Given the description of an element on the screen output the (x, y) to click on. 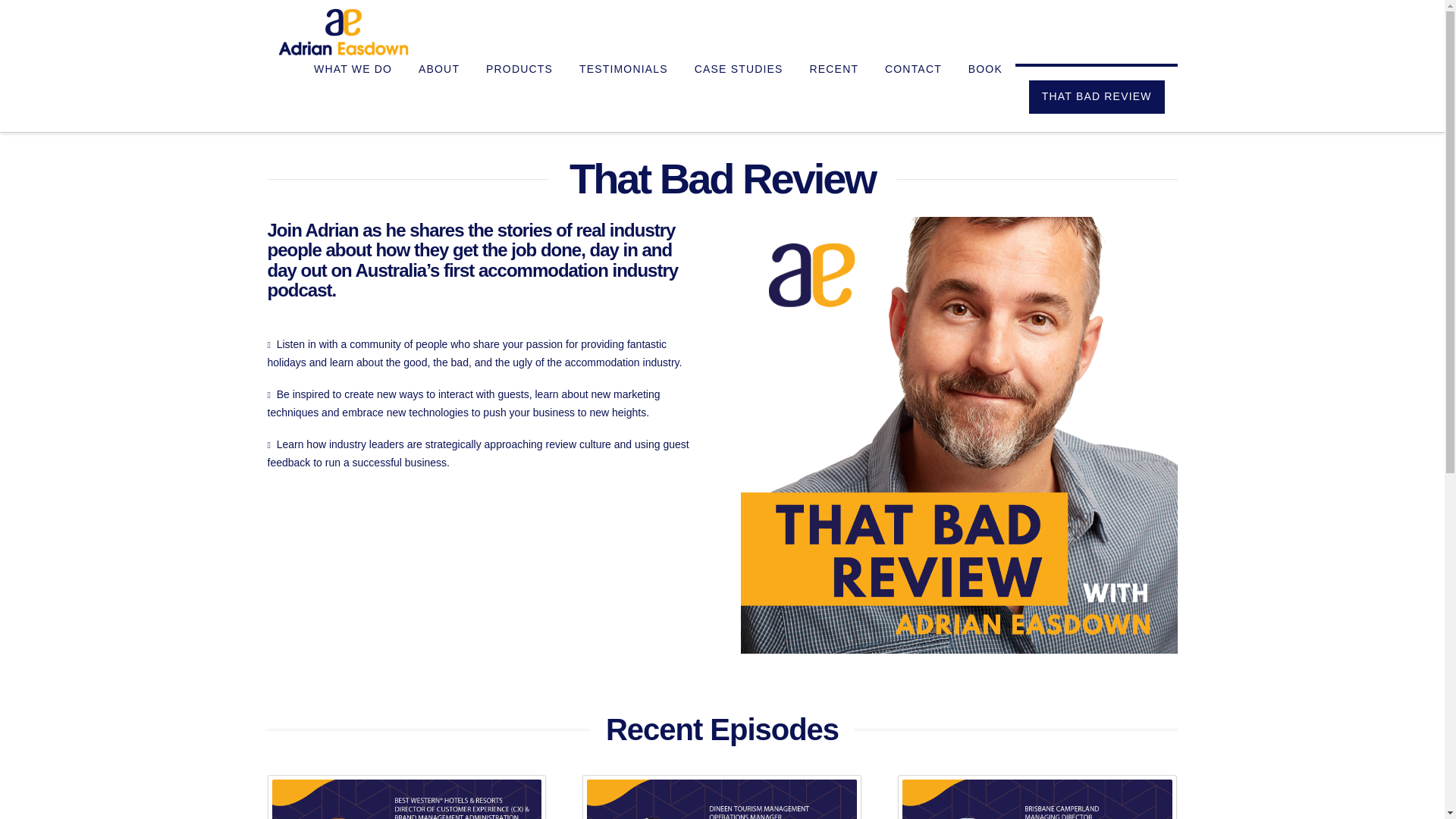
CONTACT (912, 97)
ABOUT (437, 97)
THAT BAD REVIEW (1096, 96)
WHAT WE DO (351, 97)
PRODUCTS (518, 97)
TESTIMONIALS (623, 97)
RECENT (832, 97)
CASE STUDIES (738, 97)
BOOK (984, 97)
THAT BAD REVIEW (1095, 97)
